Given the description of an element on the screen output the (x, y) to click on. 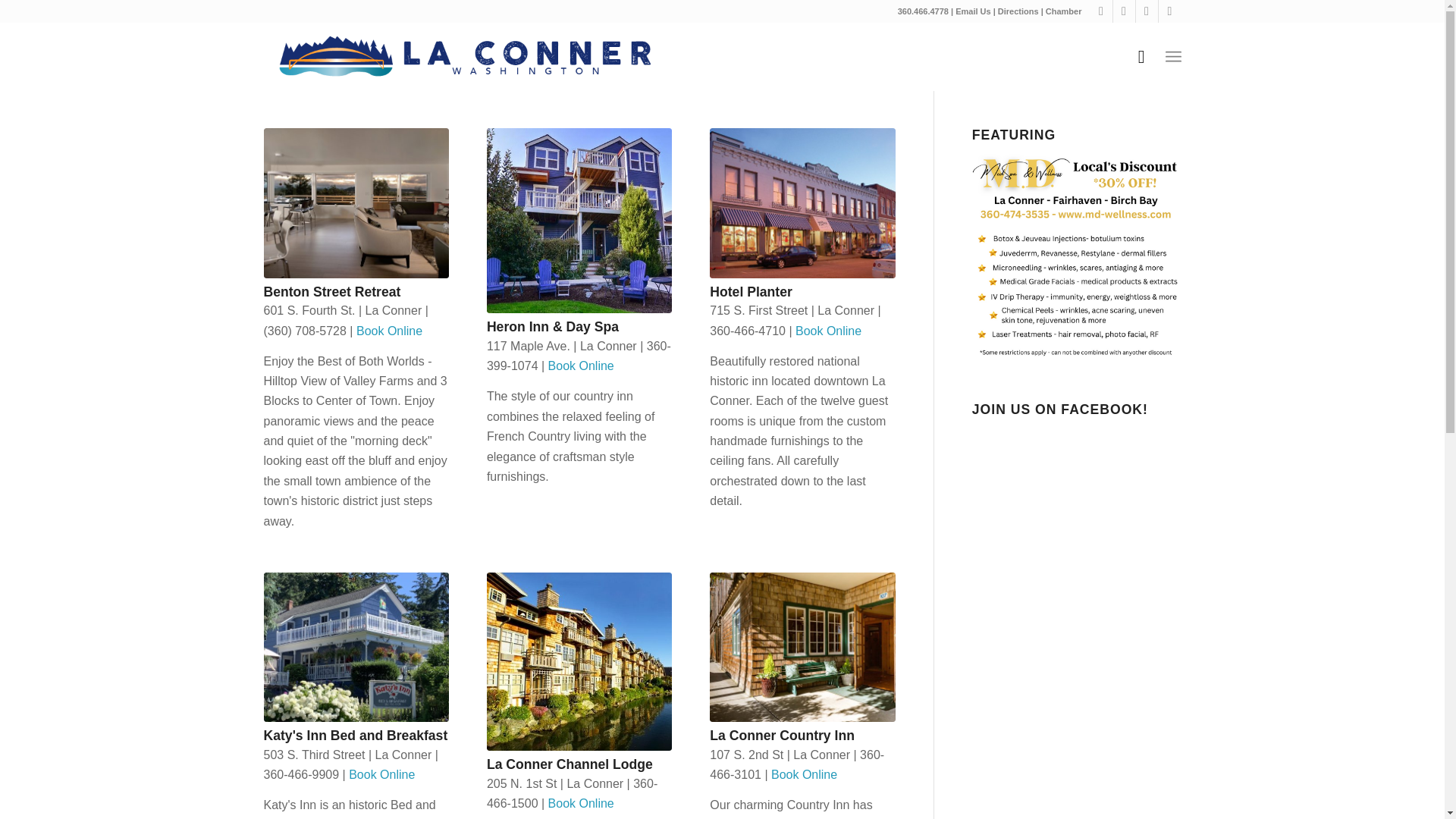
Directions (1018, 10)
Benton Street Retreat (332, 290)
Twitter (1101, 11)
La Conner Channel Lodge (569, 764)
Email Us (972, 10)
Hotel Planter (751, 290)
Youtube (1169, 11)
Facebook (1124, 11)
Chamber (1063, 10)
Instagram (1146, 11)
